Given the description of an element on the screen output the (x, y) to click on. 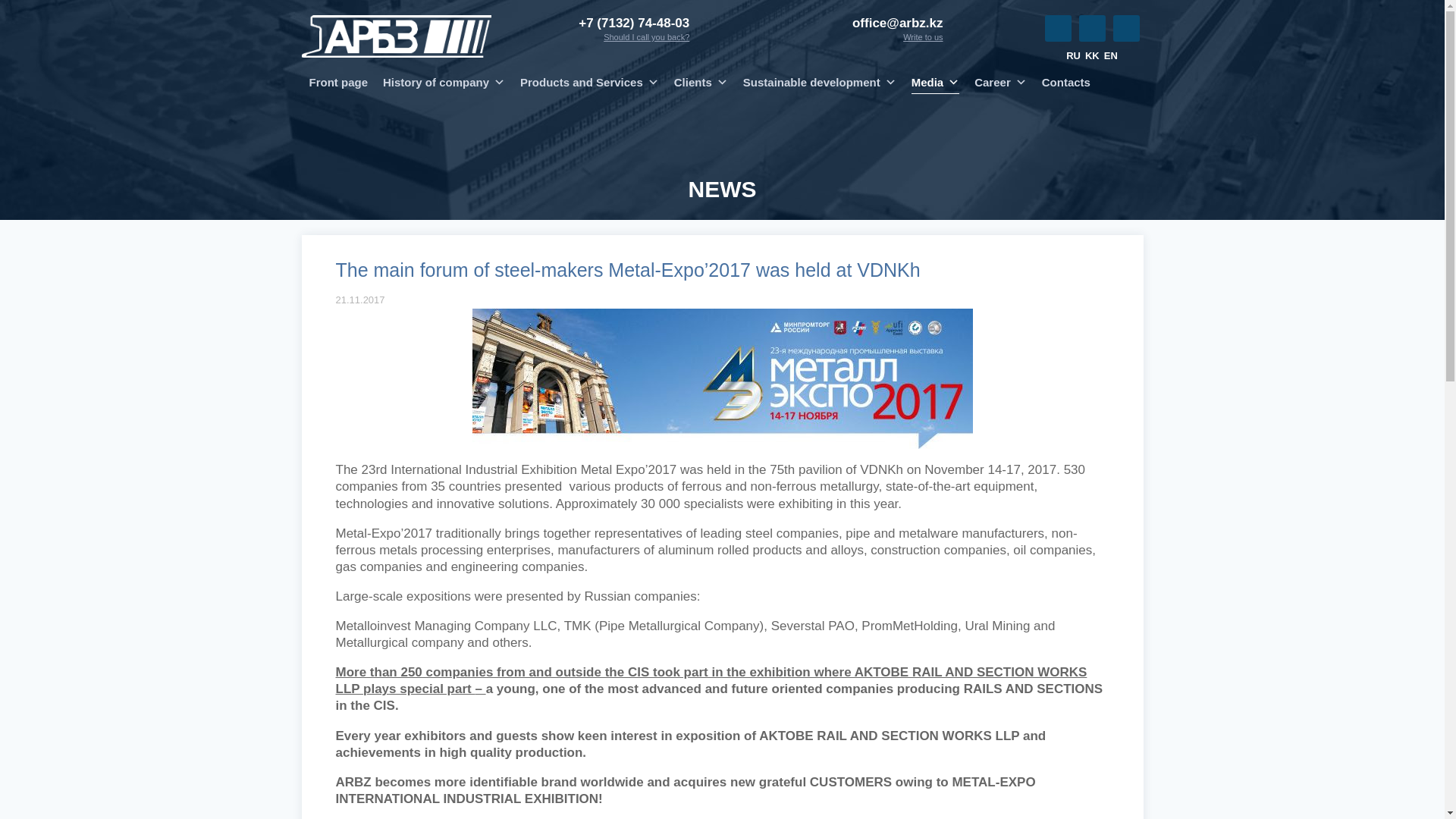
Sustainable development (819, 82)
Front page (338, 82)
RU (1072, 55)
KK (1091, 55)
EN (1110, 55)
Clients (700, 82)
Media (936, 82)
Products and Services (589, 82)
History of company (443, 82)
